Given the description of an element on the screen output the (x, y) to click on. 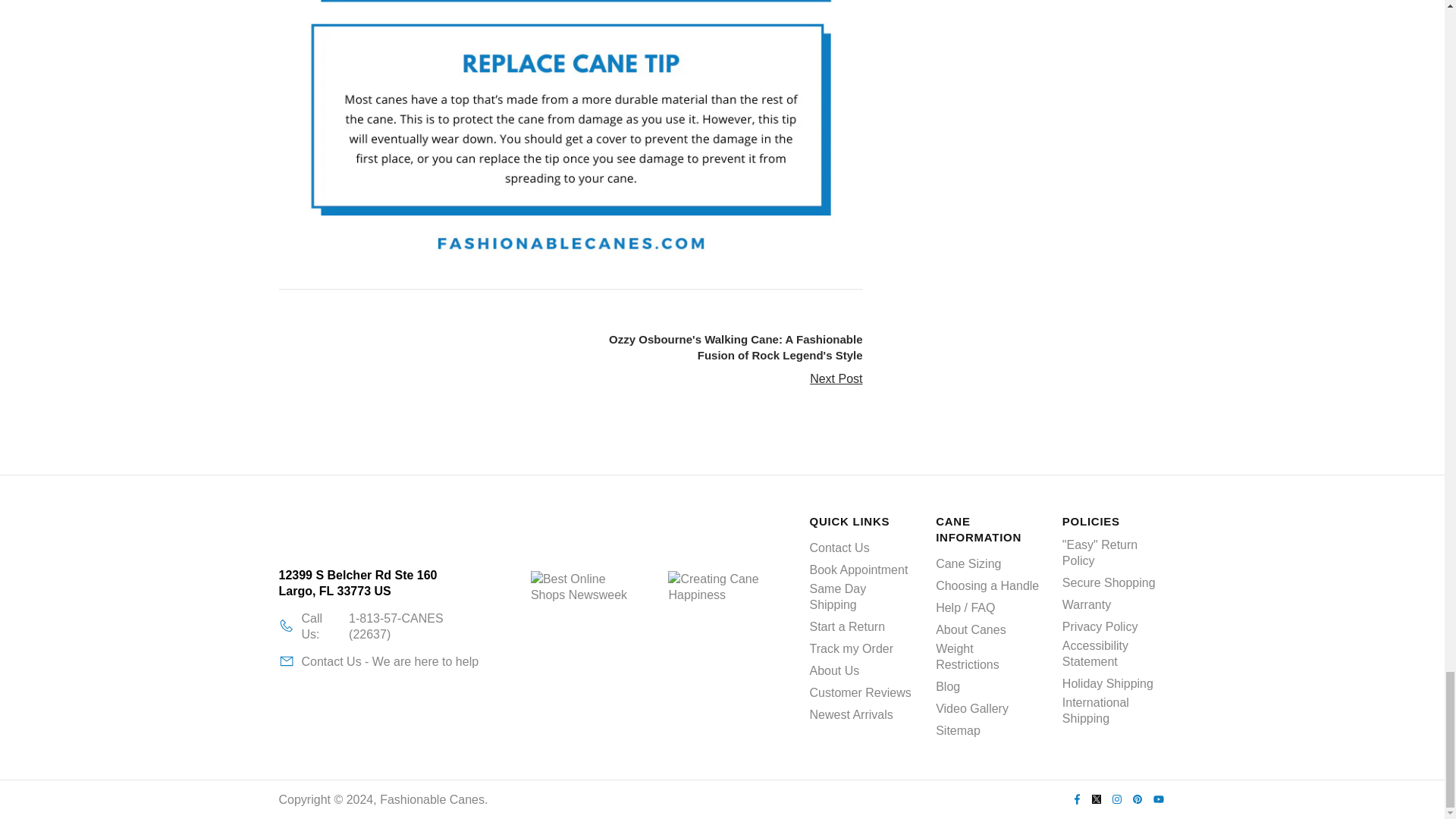
Creating Cane Happiness (721, 627)
